Given the description of an element on the screen output the (x, y) to click on. 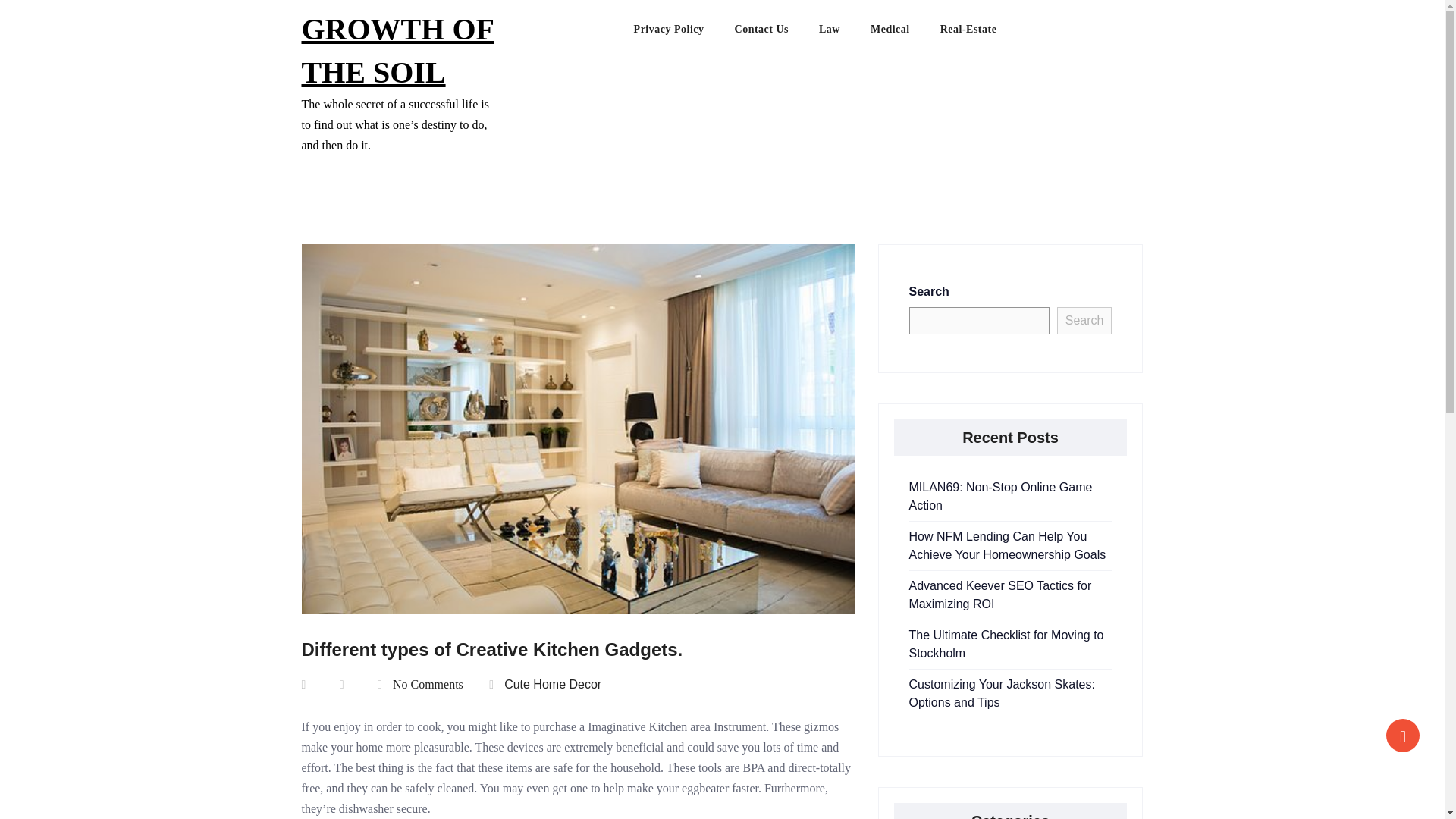
Customizing Your Jackson Skates: Options and Tips (1001, 693)
MILAN69: Non-Stop Online Game Action (1000, 495)
Cute Home Decor (552, 684)
Privacy Policy (684, 32)
GROWTH OF THE SOIL (398, 50)
Advanced Keever SEO Tactics for Maximizing ROI (999, 594)
The Ultimate Checklist for Moving to Stockholm (1005, 644)
Contact Us (777, 32)
Law (844, 32)
Search (1084, 320)
Real-Estate (983, 32)
Medical (905, 32)
